Given the description of an element on the screen output the (x, y) to click on. 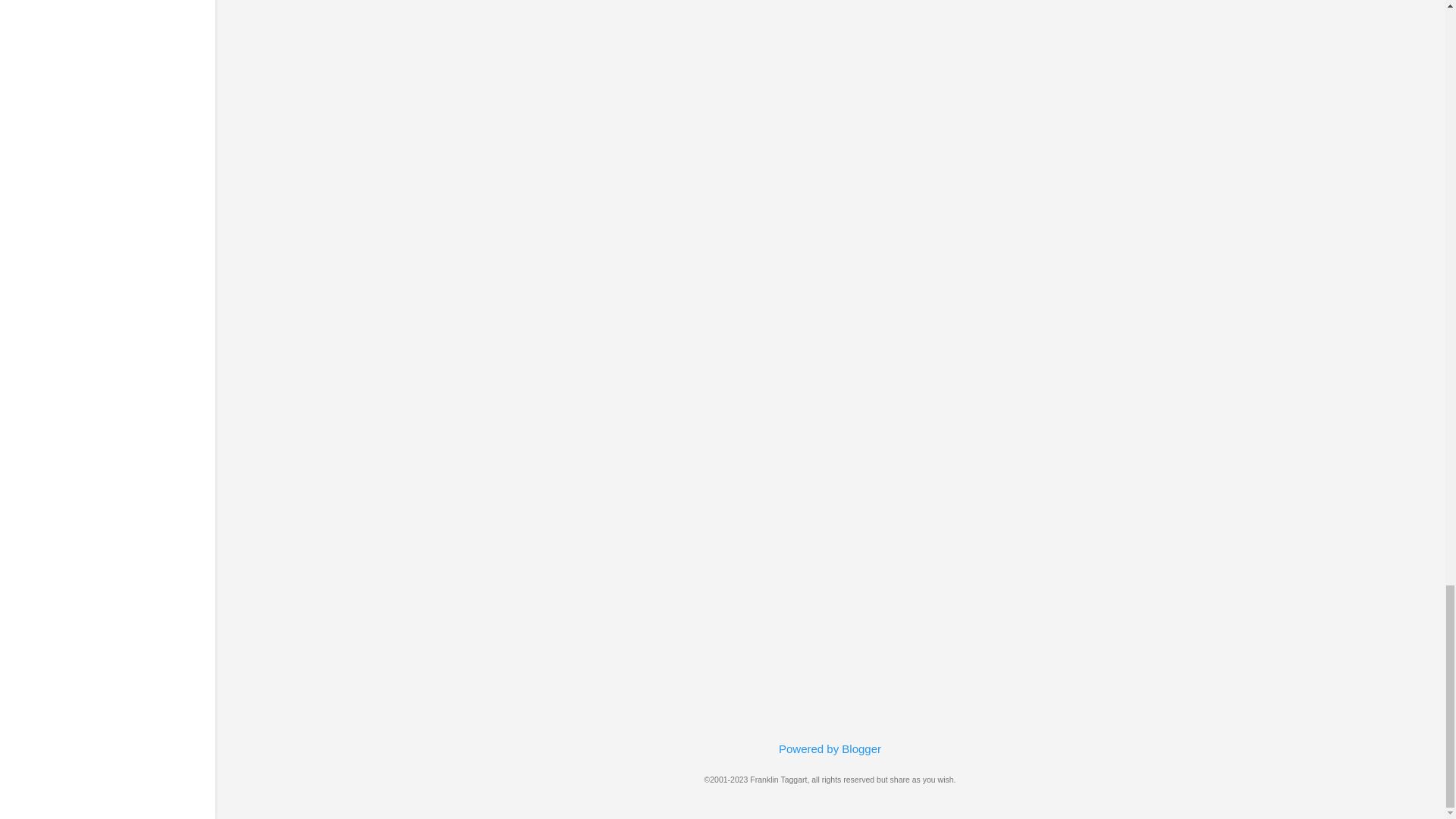
Powered by Blogger (829, 748)
